Given the description of an element on the screen output the (x, y) to click on. 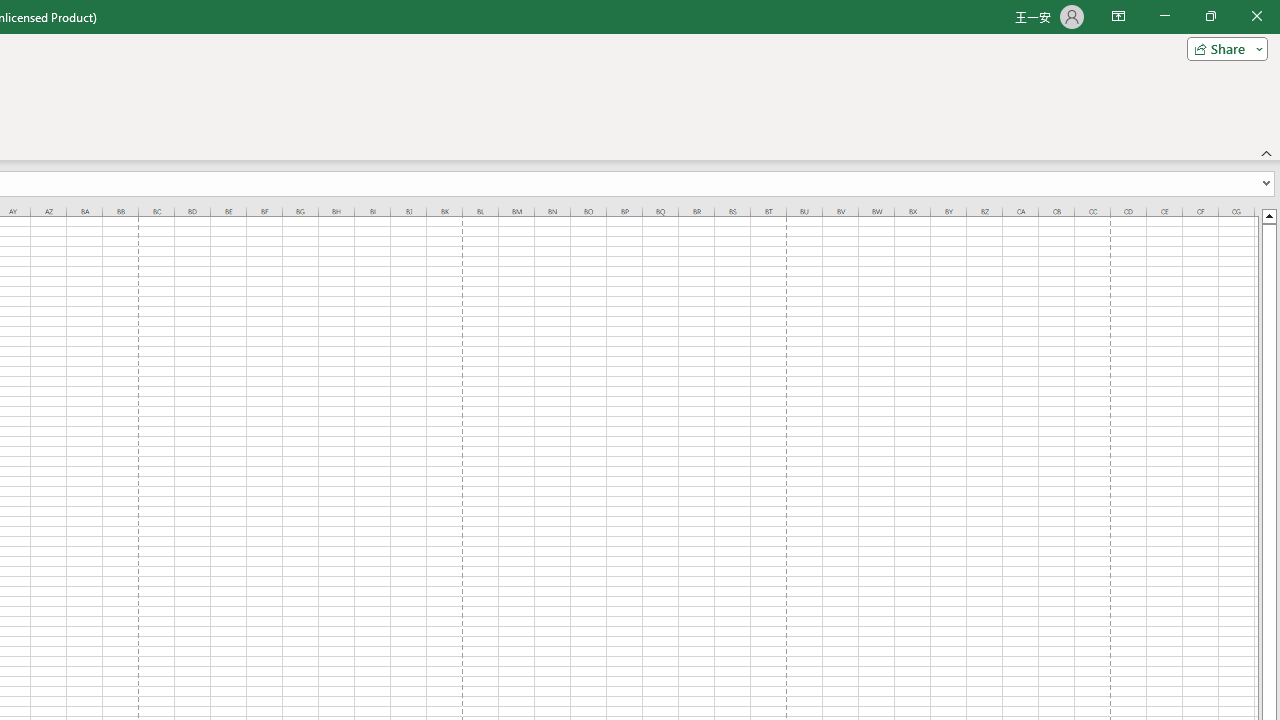
Collapse the Ribbon (1267, 152)
Restore Down (1210, 16)
Line up (1268, 215)
Ribbon Display Options (1118, 16)
Close (1256, 16)
Share (1223, 48)
Minimize (1164, 16)
